Given the description of an element on the screen output the (x, y) to click on. 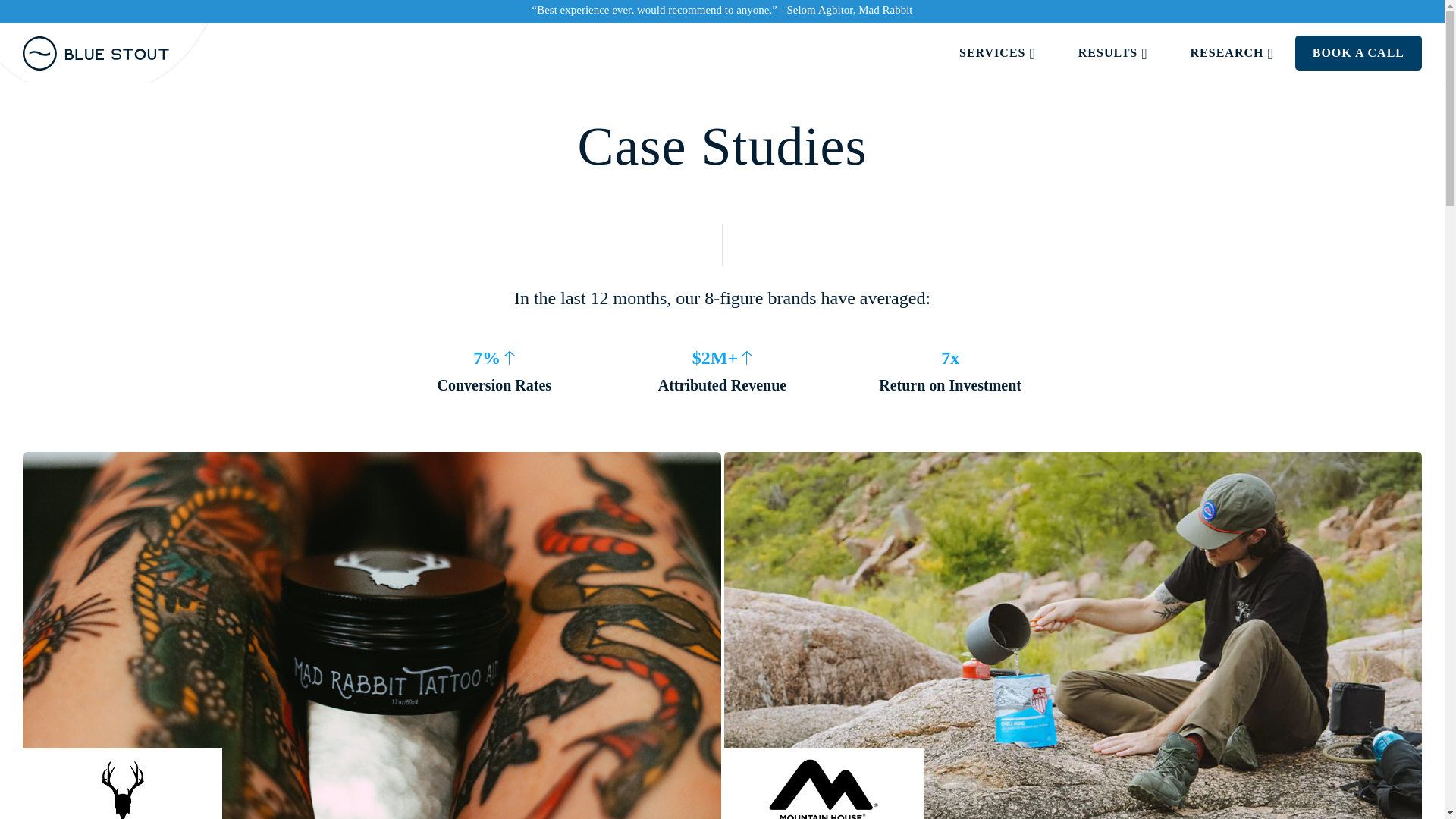
RESEARCH (1232, 53)
SERVICES (997, 53)
RESULTS (1112, 53)
BOOK A CALL (1358, 53)
